Given the description of an element on the screen output the (x, y) to click on. 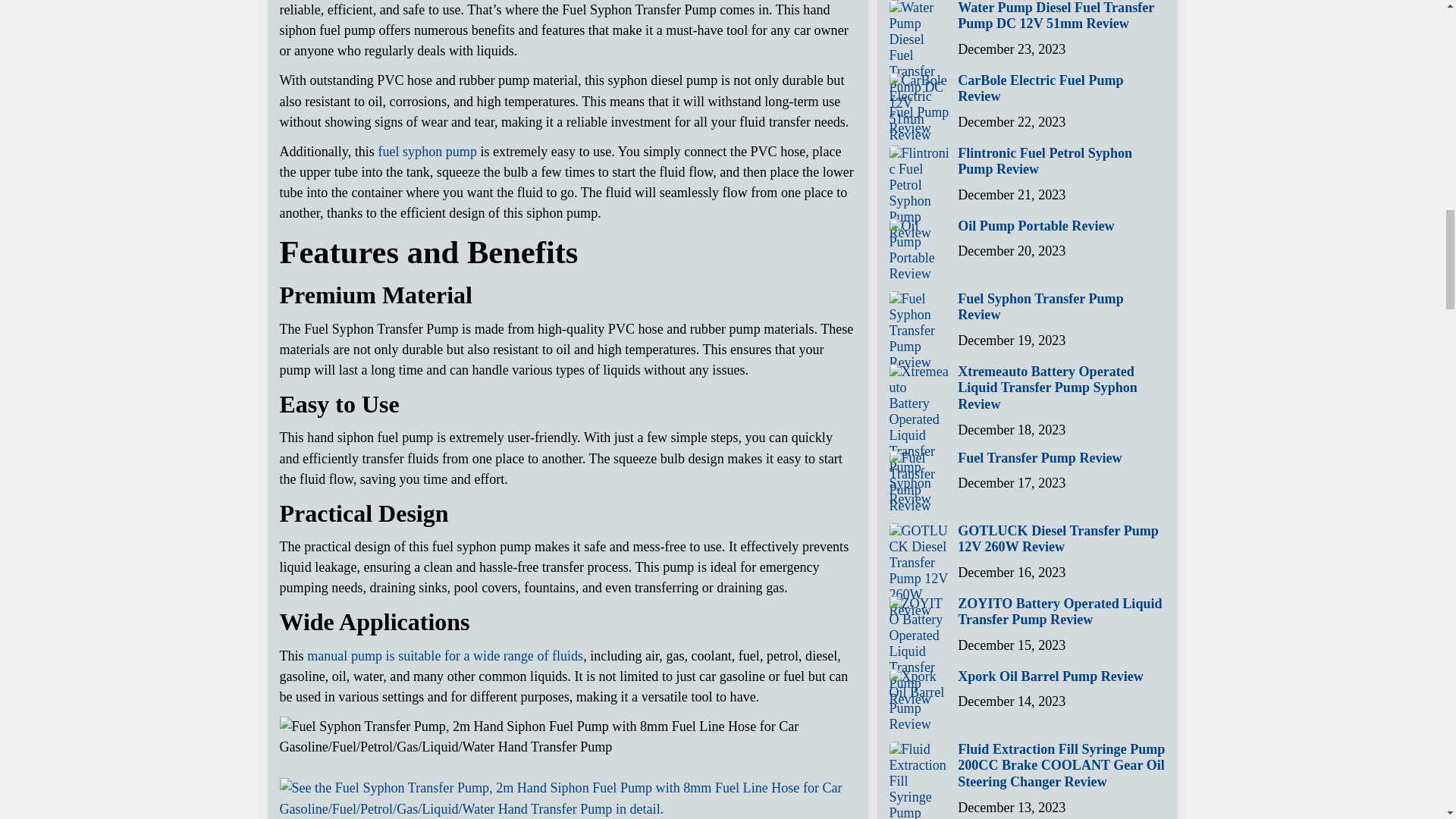
manual pump is suitable for a wide range of fluids (445, 655)
fuel syphon pump (427, 151)
